Given the description of an element on the screen output the (x, y) to click on. 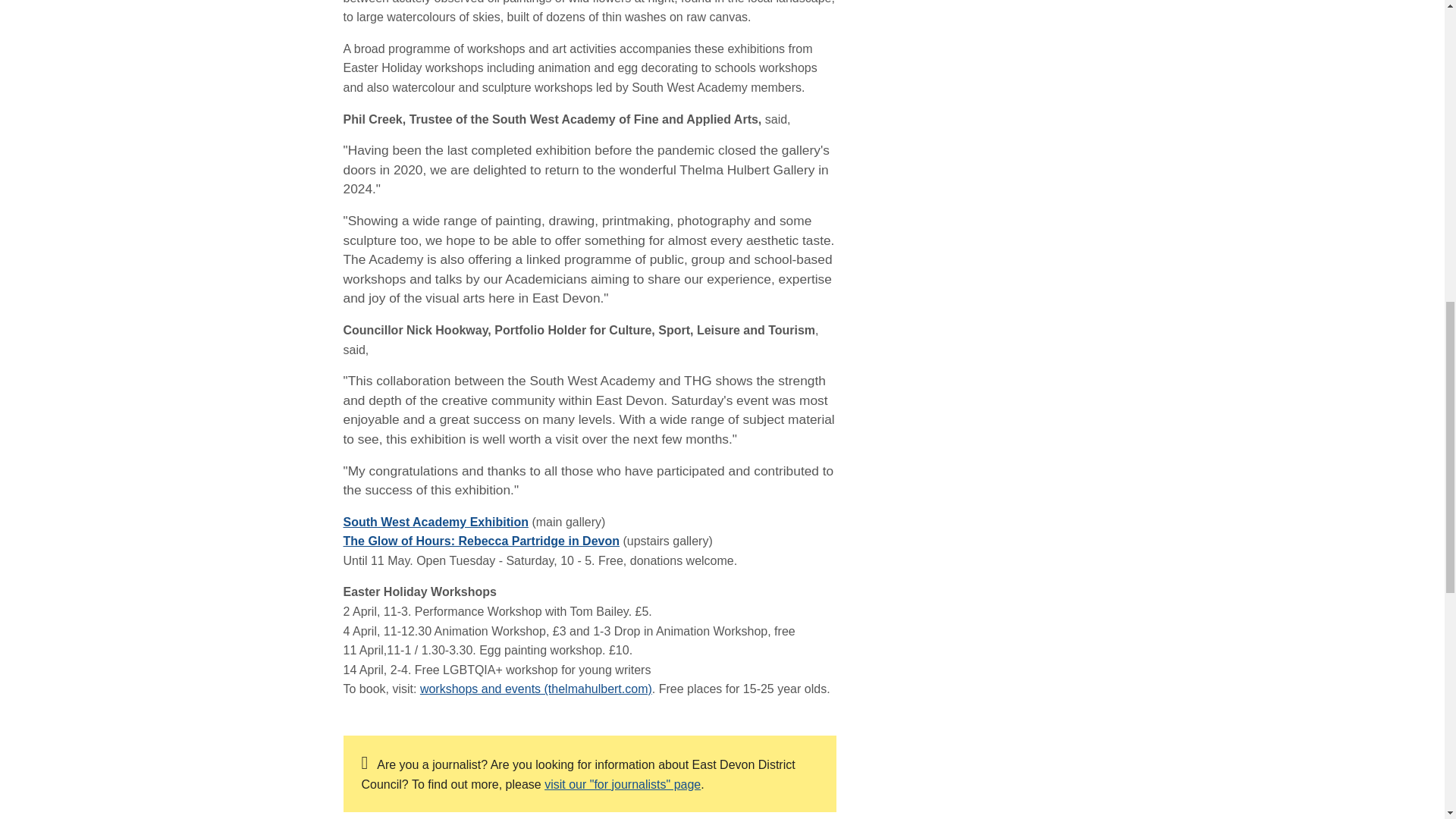
Workshops and events - Thelma Hulbert Gallery (536, 688)
The Glow of Hours: Rebecca Partridge in Devon (481, 540)
visit our "for journalists" page (622, 784)
South West Academy Exhibition - Thelma Hulbert Gallery (434, 521)
South West Academy Exhibition (434, 521)
